Given the description of an element on the screen output the (x, y) to click on. 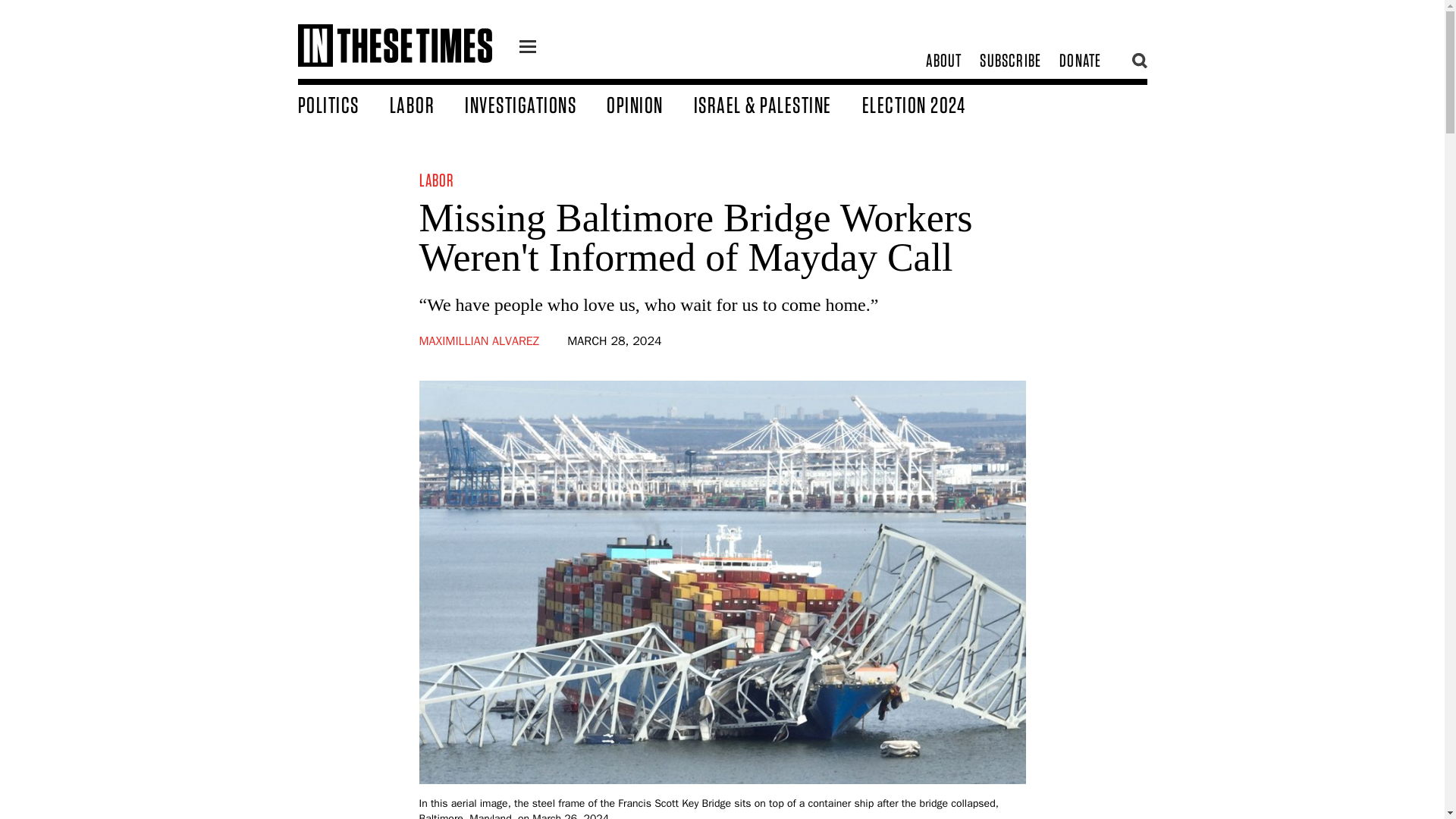
OPINION (650, 103)
SUBSCRIBE (1010, 60)
INVESTIGATIONS (535, 103)
ABOUT (944, 60)
LABOR (436, 179)
ELECTION 2024 (928, 103)
LABOR (427, 103)
POLITICS (342, 103)
DONATE (1079, 60)
